Given the description of an element on the screen output the (x, y) to click on. 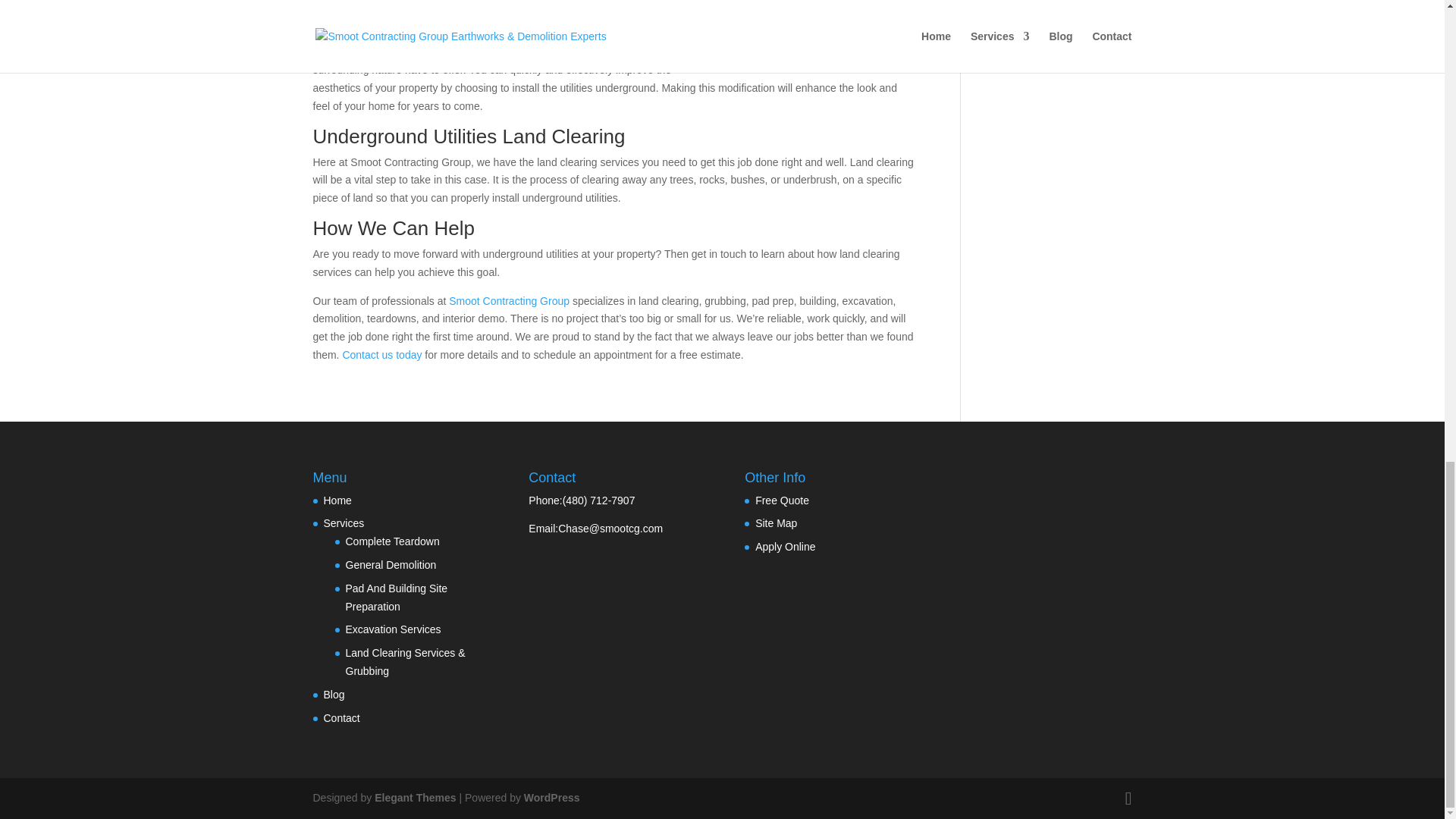
Premium WordPress Themes (414, 797)
Blog (333, 694)
Smoot Contracting Group (507, 300)
Site Map (775, 522)
Services (343, 522)
Excavation Services (393, 629)
Apply Online (785, 546)
Complete Teardown (392, 541)
Pad And Building Site Preparation (397, 597)
Elegant Themes (414, 797)
